Given the description of an element on the screen output the (x, y) to click on. 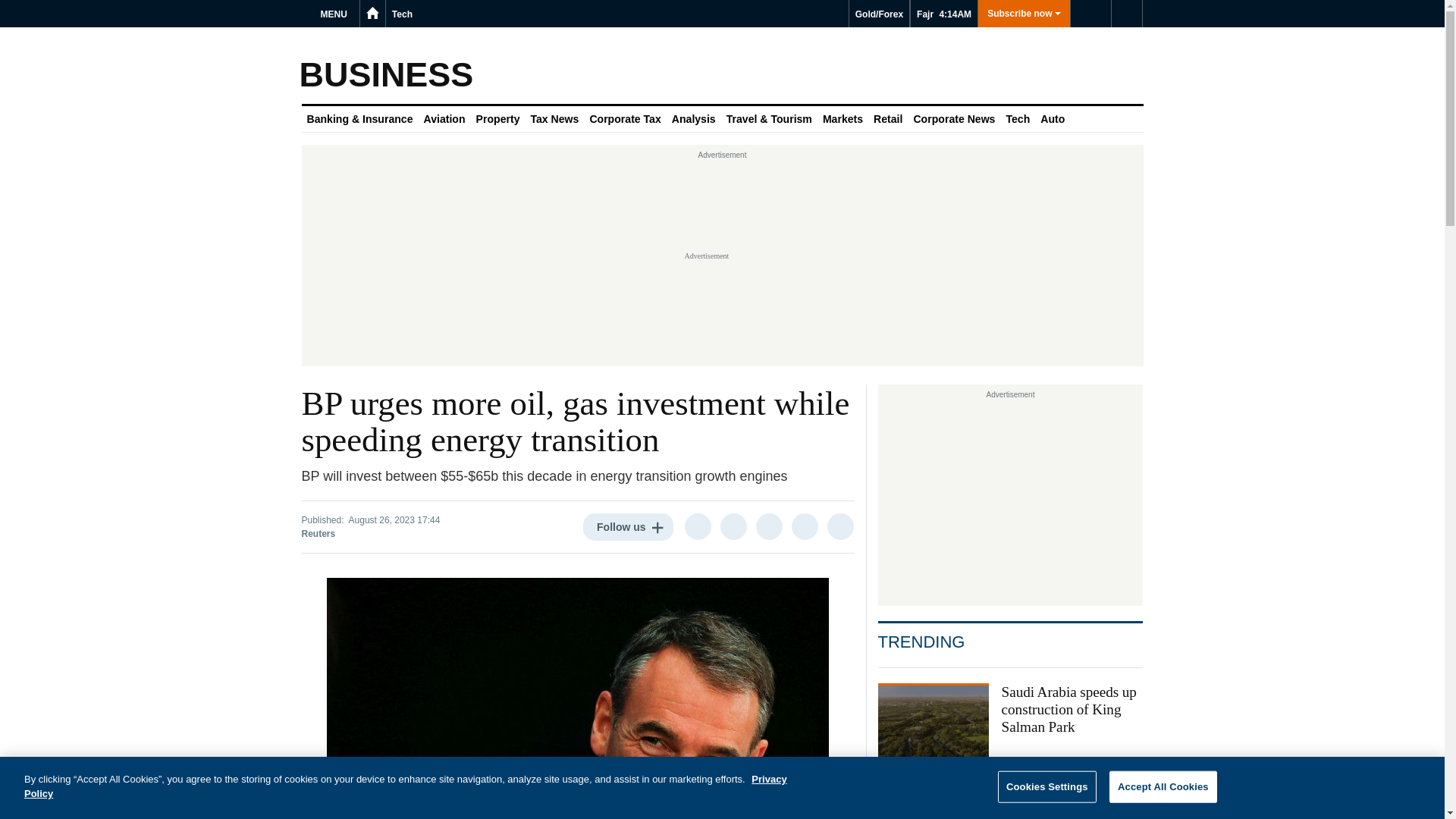
MENU (336, 13)
Fajr 4:14AM (943, 13)
Tech (402, 13)
3rd party ad content (1010, 498)
Subscribe now (1024, 13)
